Given the description of an element on the screen output the (x, y) to click on. 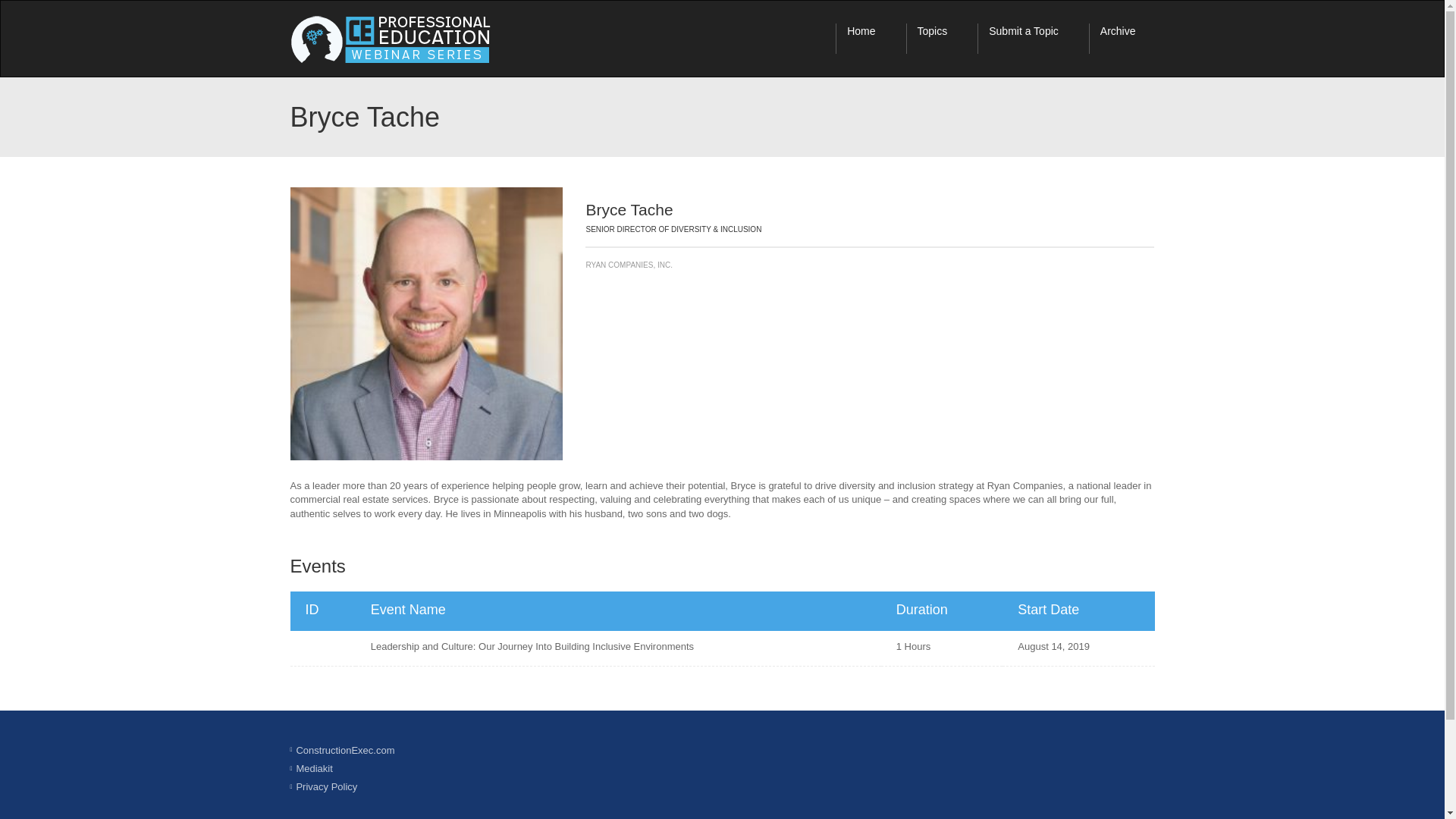
Submit a Topic (1032, 38)
Privacy Policy (325, 786)
Home (870, 38)
Topics (941, 38)
Archive (1127, 38)
ConstructionExec.com (344, 749)
RYAN COMPANIES, INC. (869, 264)
Mediakit (313, 767)
